Given the description of an element on the screen output the (x, y) to click on. 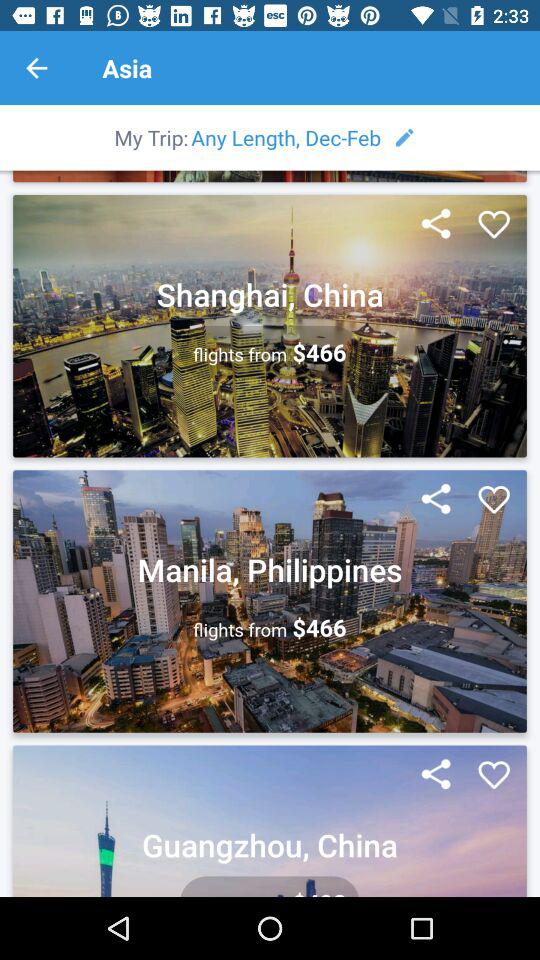
share option (435, 225)
